Given the description of an element on the screen output the (x, y) to click on. 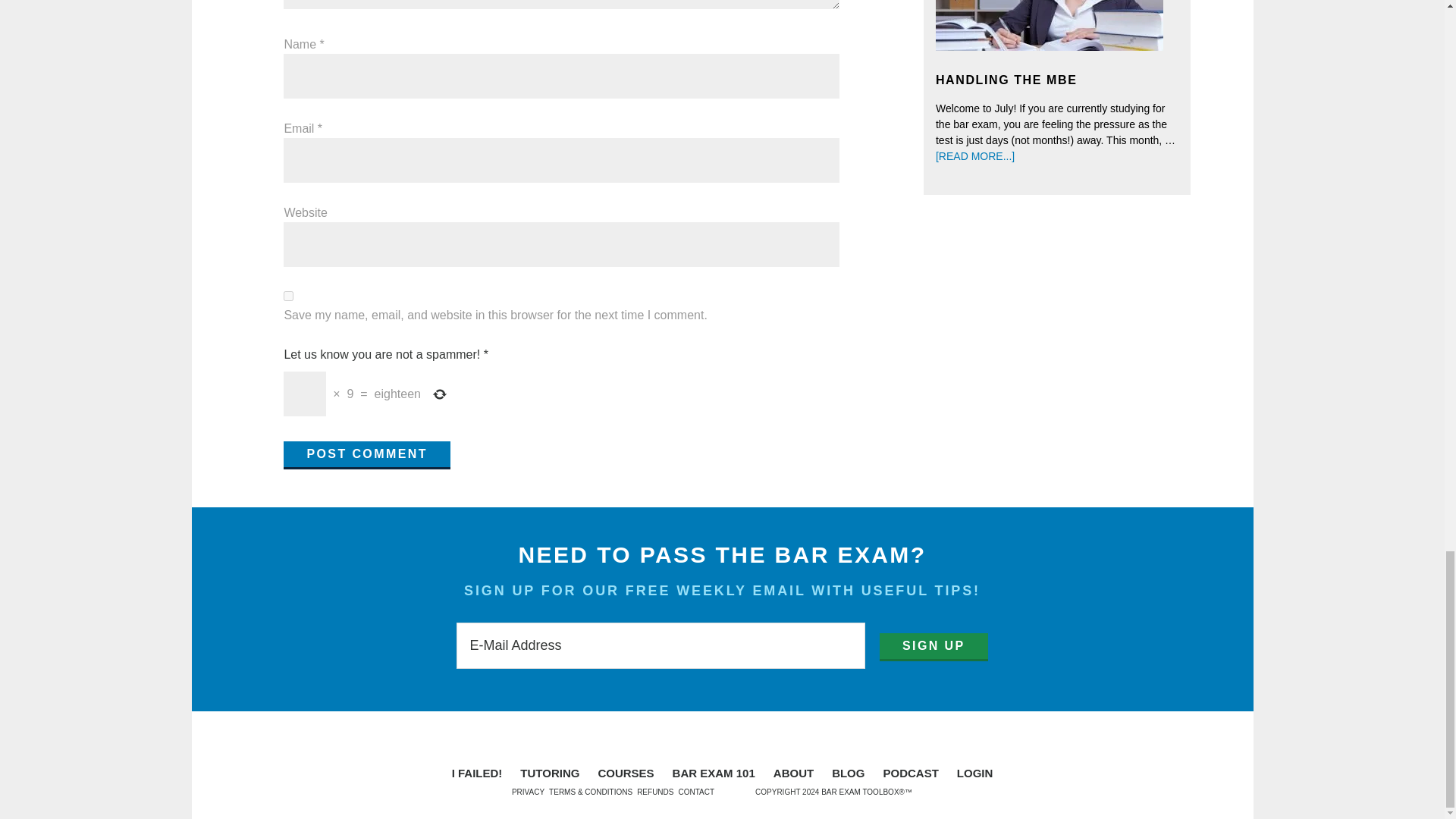
Post Comment (366, 455)
yes (288, 296)
Sign Up (933, 646)
